Given the description of an element on the screen output the (x, y) to click on. 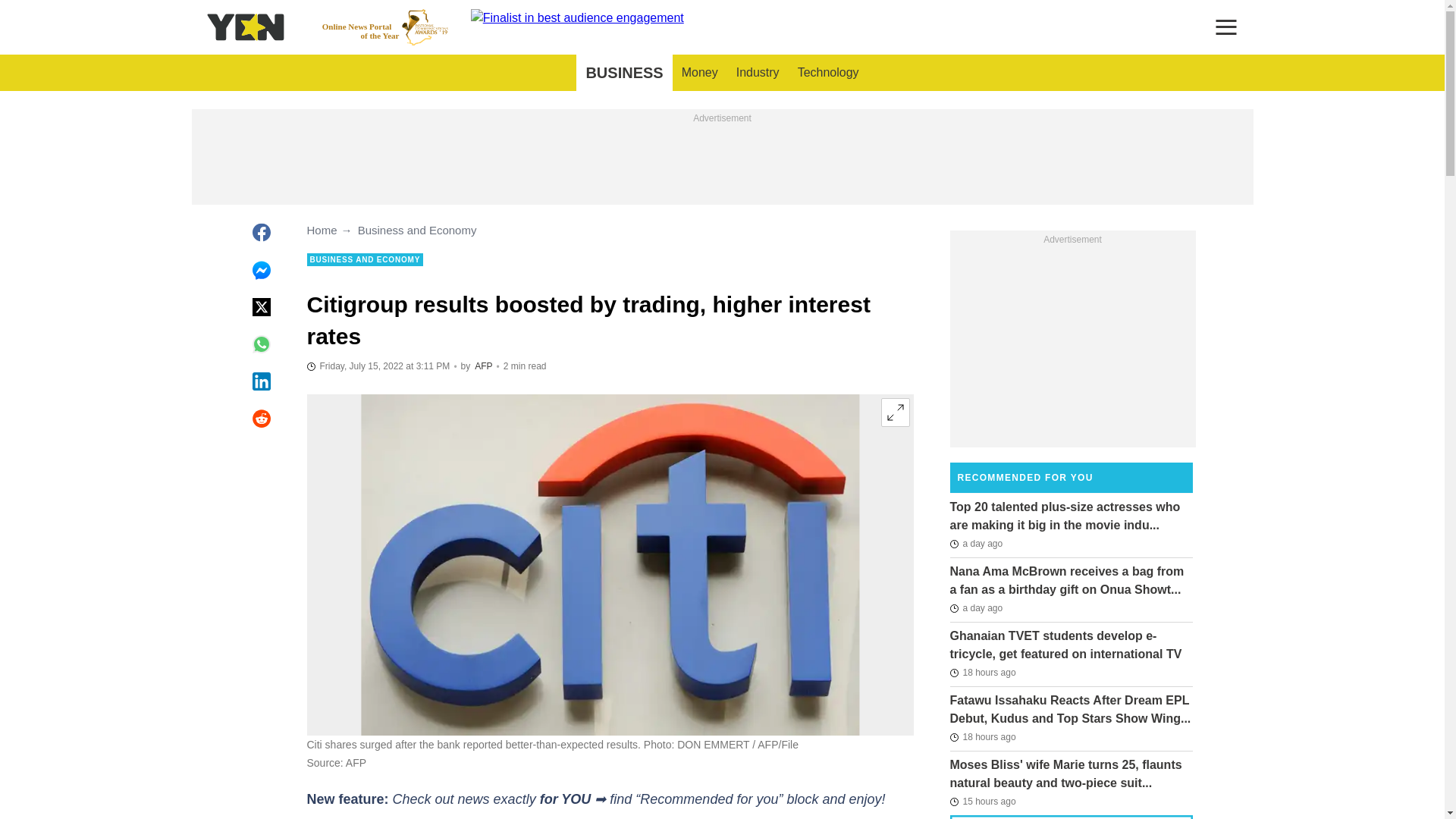
Author page (483, 366)
Technology (384, 27)
2022-07-15T15:11:05Z (828, 72)
Money (377, 366)
BUSINESS (699, 72)
Industry (623, 72)
Expand image (757, 72)
